Given the description of an element on the screen output the (x, y) to click on. 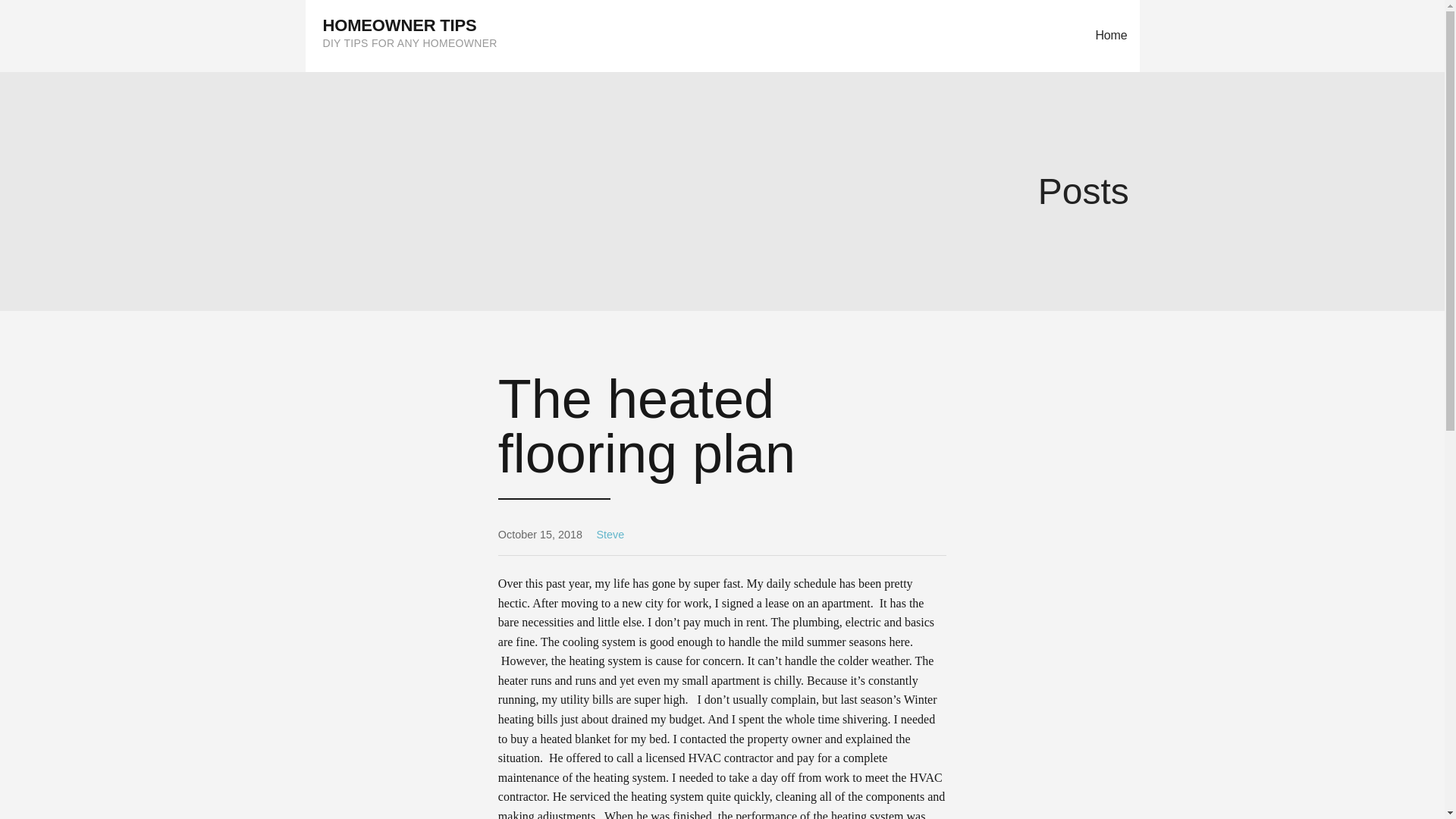
Steve (609, 534)
Posts by Steve (609, 534)
HOMEOWNER TIPS (400, 25)
Home (1110, 36)
